Given the description of an element on the screen output the (x, y) to click on. 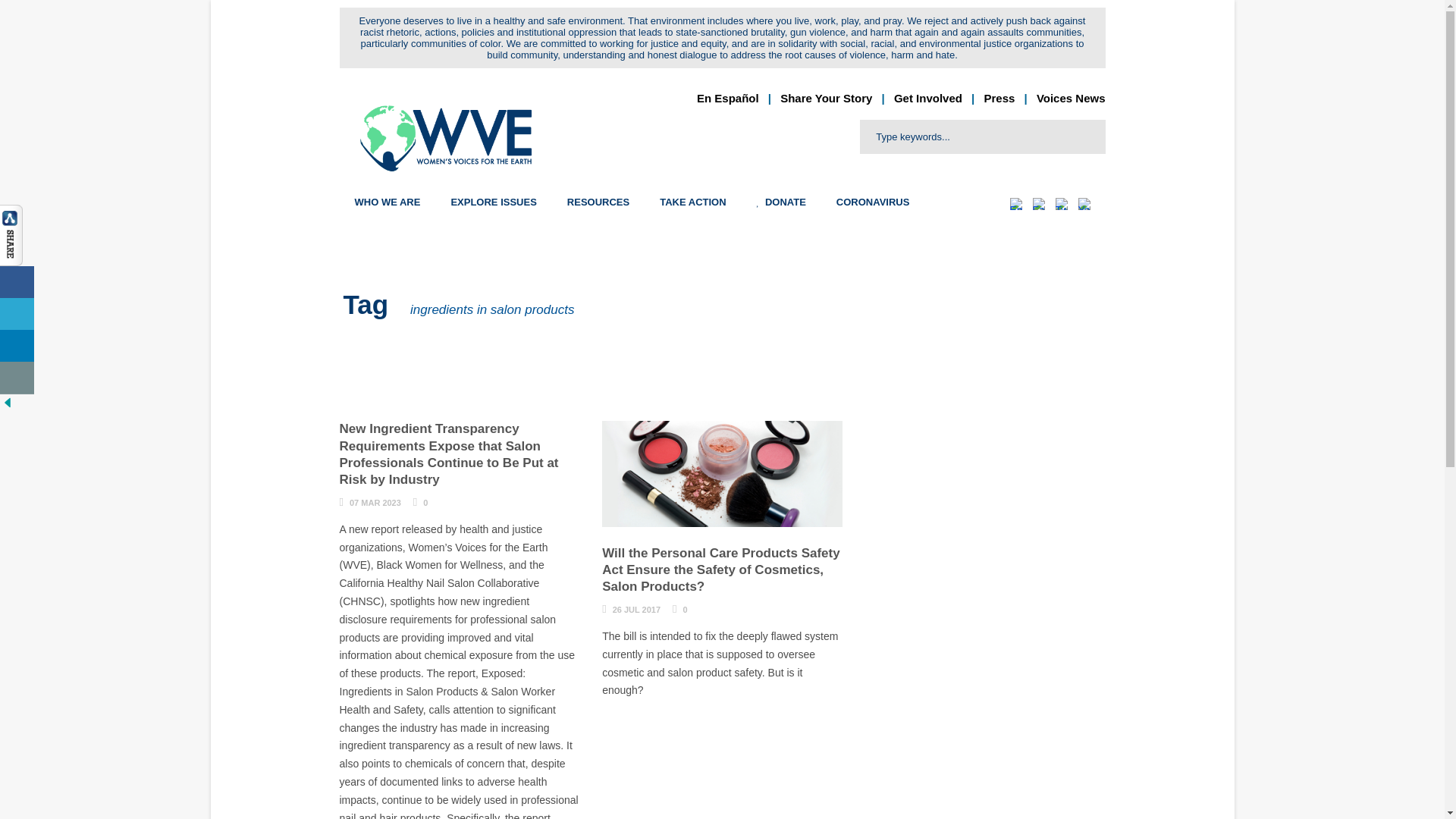
Press (999, 97)
Show Buttons (11, 234)
Type keywords... (982, 136)
Contact us (16, 377)
Share On Facebook (16, 282)
Hide Buttons (7, 401)
Share On Twitter (16, 314)
Get Involved (927, 97)
Share Your Story (827, 97)
Share On Linkedin (16, 346)
